Given the description of an element on the screen output the (x, y) to click on. 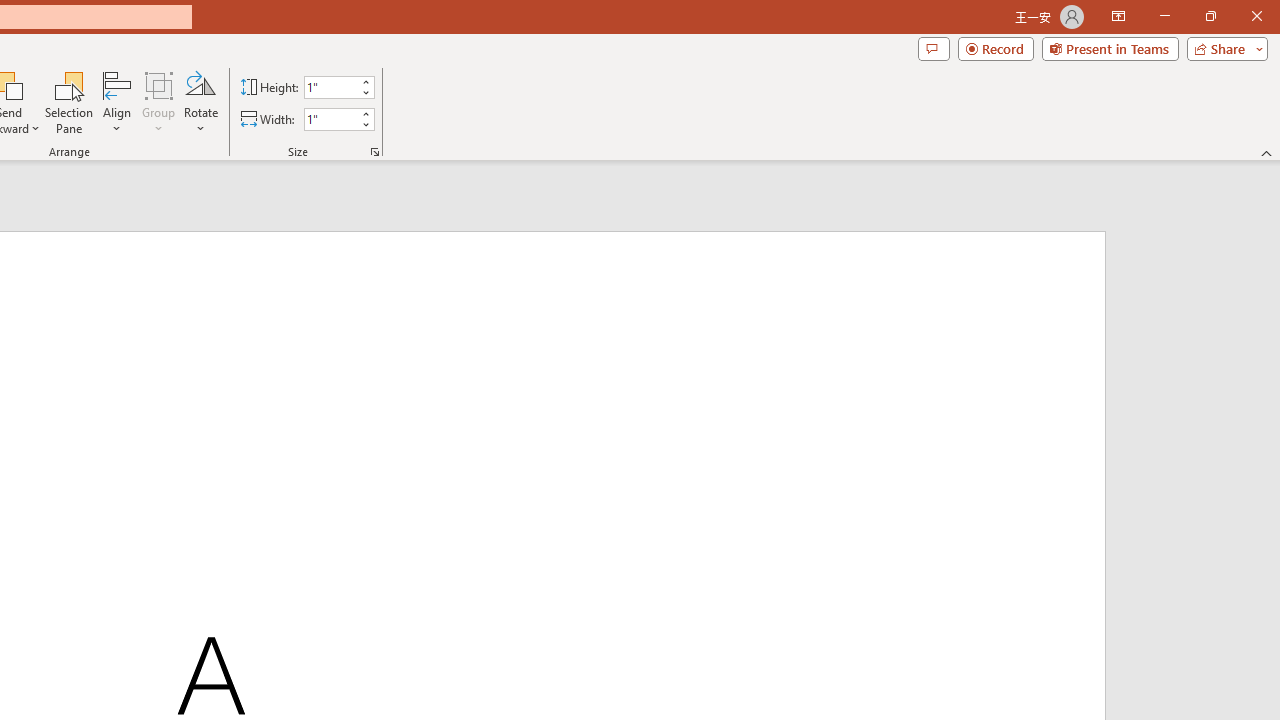
Rotate (200, 102)
Shape Width (330, 119)
Group (159, 102)
Size and Position... (374, 151)
